Given the description of an element on the screen output the (x, y) to click on. 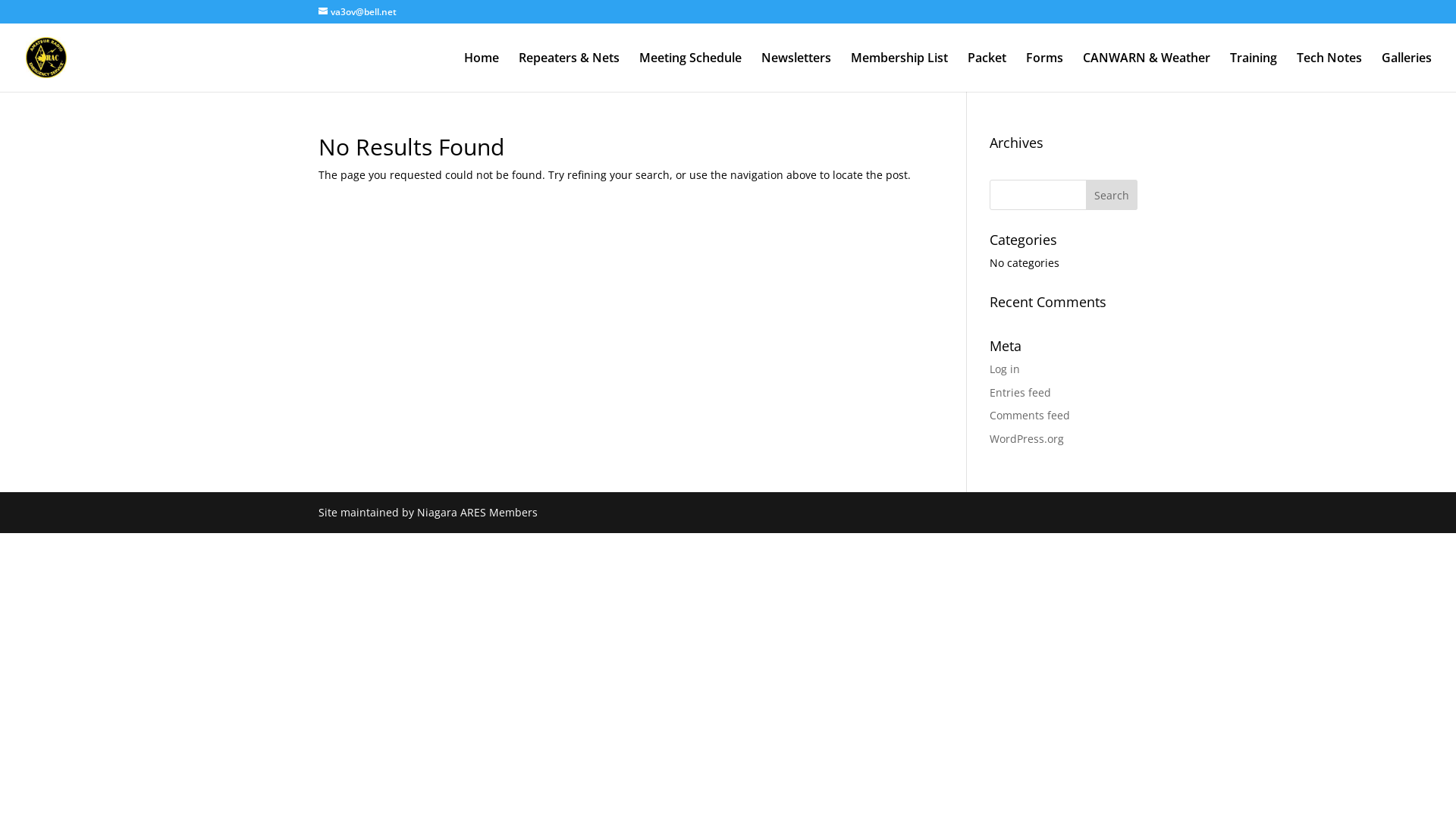
Tech Notes Element type: text (1328, 71)
WordPress.org Element type: text (1026, 438)
Meeting Schedule Element type: text (690, 71)
Galleries Element type: text (1406, 71)
Membership List Element type: text (898, 71)
Packet Element type: text (986, 71)
CANWARN & Weather Element type: text (1146, 71)
Forms Element type: text (1044, 71)
Newsletters Element type: text (796, 71)
Training Element type: text (1253, 71)
Comments feed Element type: text (1029, 414)
Home Element type: text (481, 71)
Search Element type: text (1111, 194)
Entries feed Element type: text (1020, 392)
Repeaters & Nets Element type: text (568, 71)
Log in Element type: text (1004, 368)
va3ov@bell.net Element type: text (357, 11)
